Given the description of an element on the screen output the (x, y) to click on. 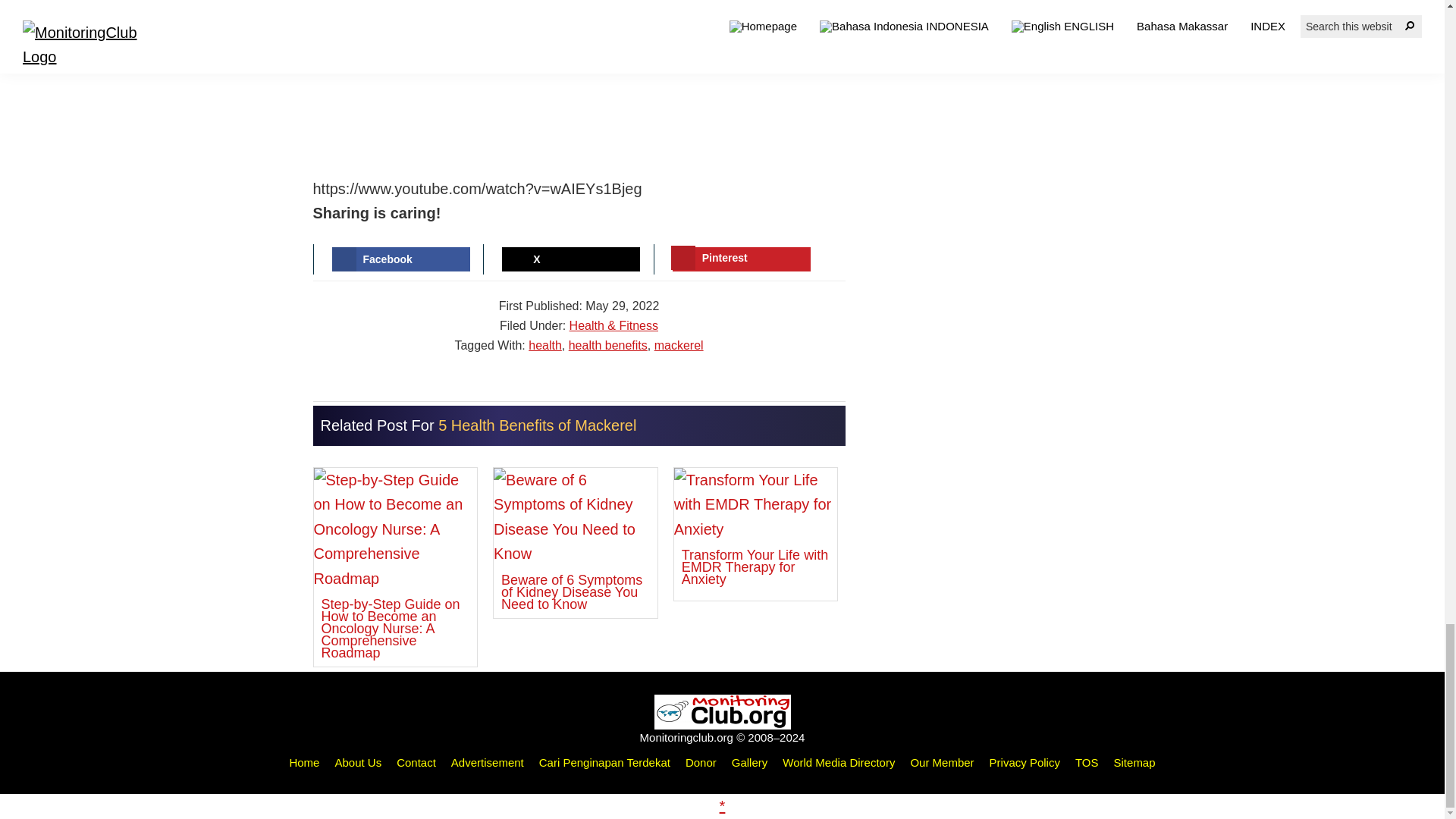
health (545, 345)
X (571, 259)
Facebook (400, 259)
Share on X (571, 259)
Save to Pinterest (741, 259)
Beware of 6 Symptoms of Kidney Disease You Need to Know (575, 542)
health benefits (608, 345)
Transform Your Life with EMDR Therapy for Anxiety (756, 530)
Beware of 6 Symptoms of Kidney Disease You Need to Know (575, 542)
